Given the description of an element on the screen output the (x, y) to click on. 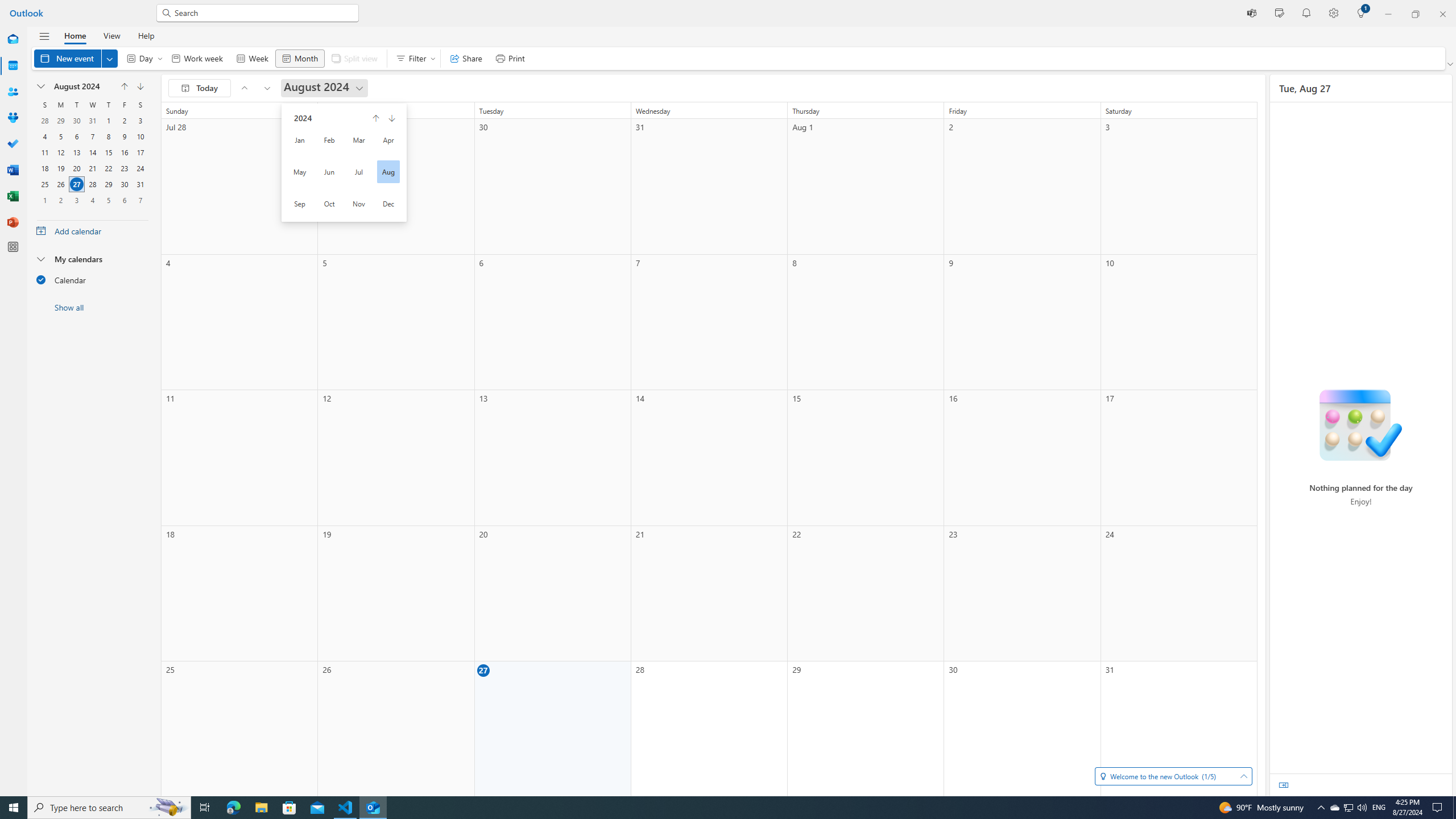
Class: weekRow-292 (92, 200)
PowerPoint (12, 222)
Friday (124, 104)
2, August, 2024 (124, 120)
22, August, 2024 (108, 168)
24, August, 2024 (140, 168)
8, August, 2024 (108, 136)
New event (75, 58)
Filter (413, 58)
14, August, 2024 (92, 151)
29, August, 2024 (108, 183)
31, August, 2024 (140, 184)
August 2024, select to change the month (82, 86)
12, August, 2024 (59, 151)
1, September, 2024 (44, 200)
